Given the description of an element on the screen output the (x, y) to click on. 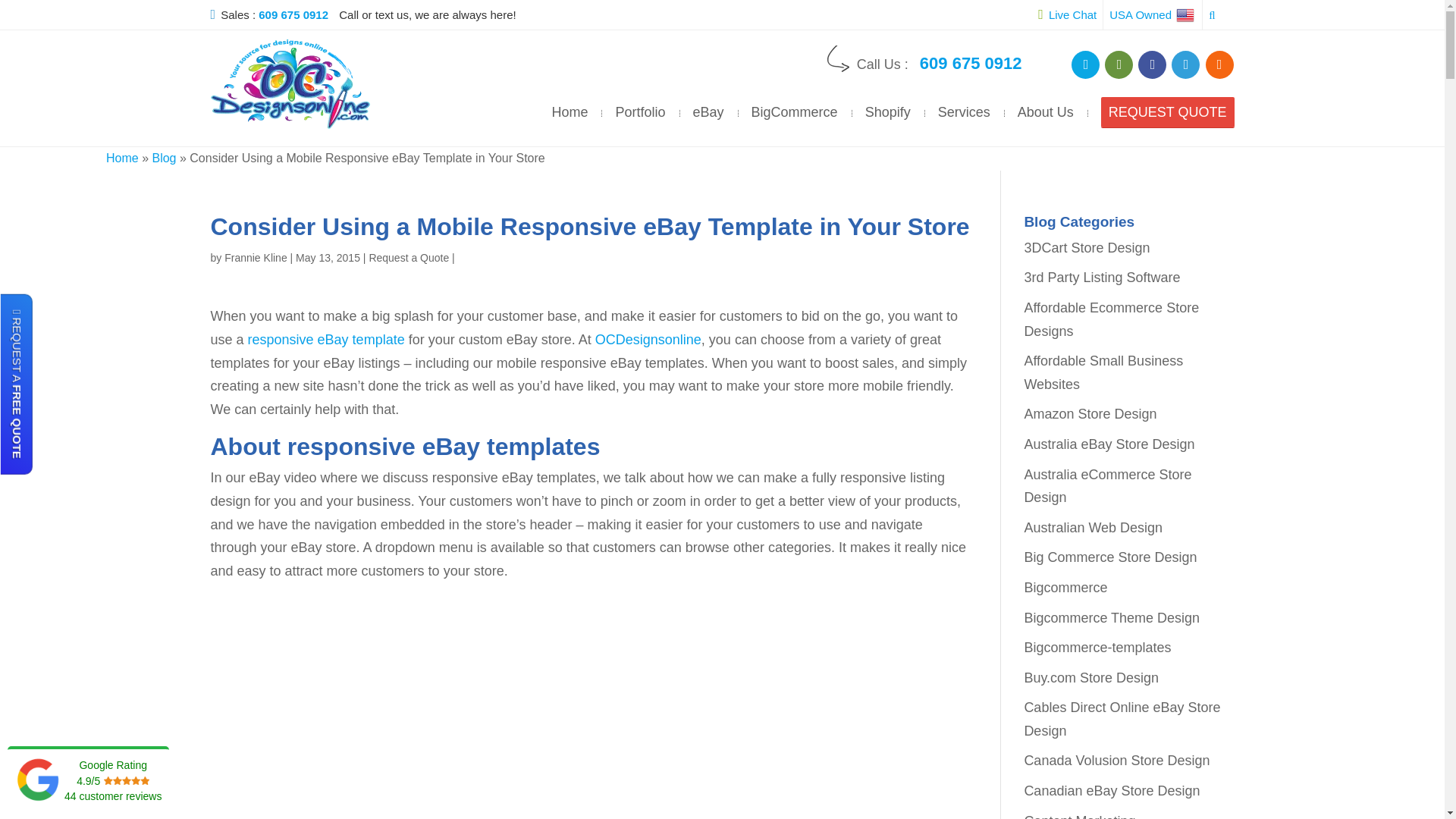
Call us on skype (1085, 64)
Live Chat (1067, 14)
Follow us on twitter (1185, 64)
609 675 0912 (970, 63)
609 675 0912 (297, 14)
Like us on facebook (1152, 64)
Checkout our latest blog posts (1219, 64)
OCDesignsOnline (290, 83)
USA Owned (1152, 14)
Posts by Frannie Kline (255, 257)
